Given the description of an element on the screen output the (x, y) to click on. 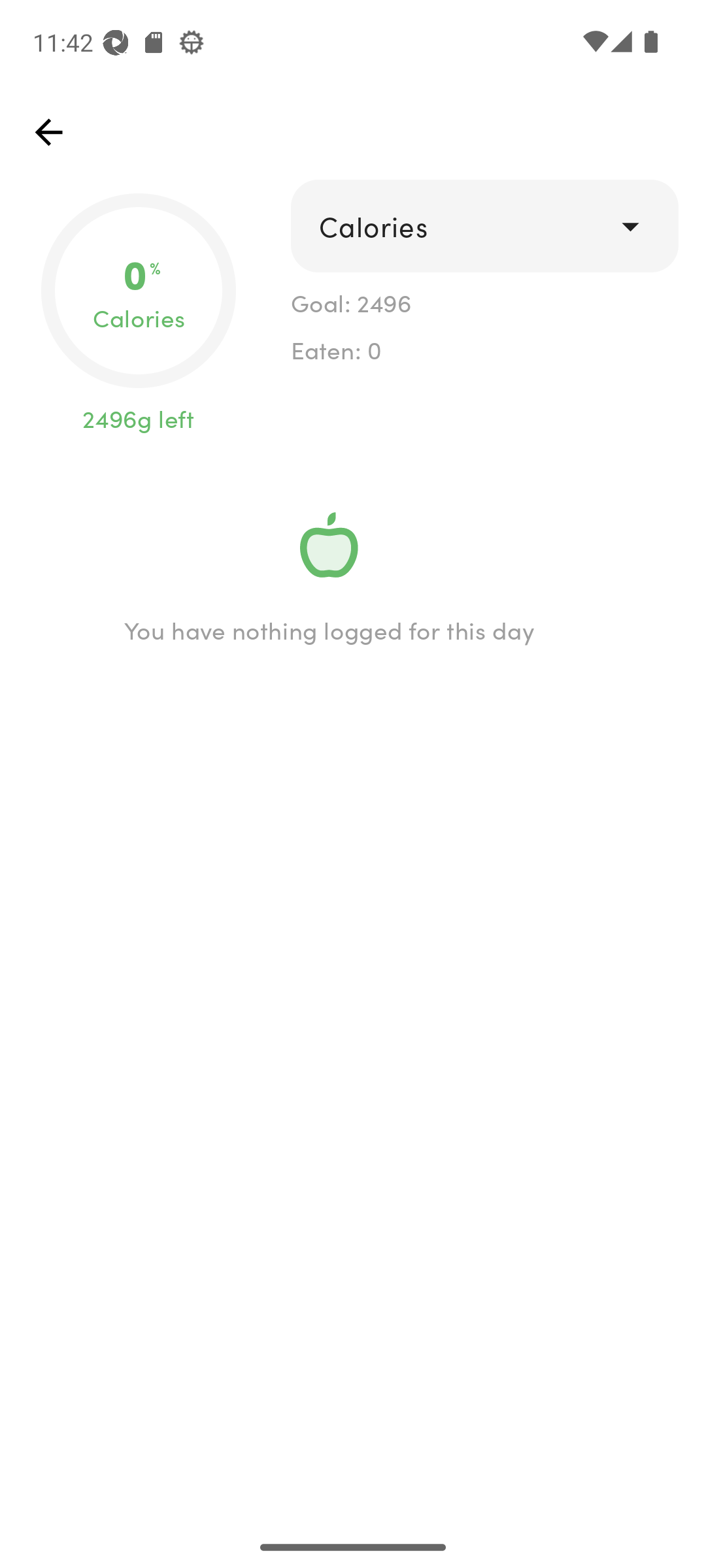
top_left_action (48, 132)
drop_down Calories (484, 226)
